Given the description of an element on the screen output the (x, y) to click on. 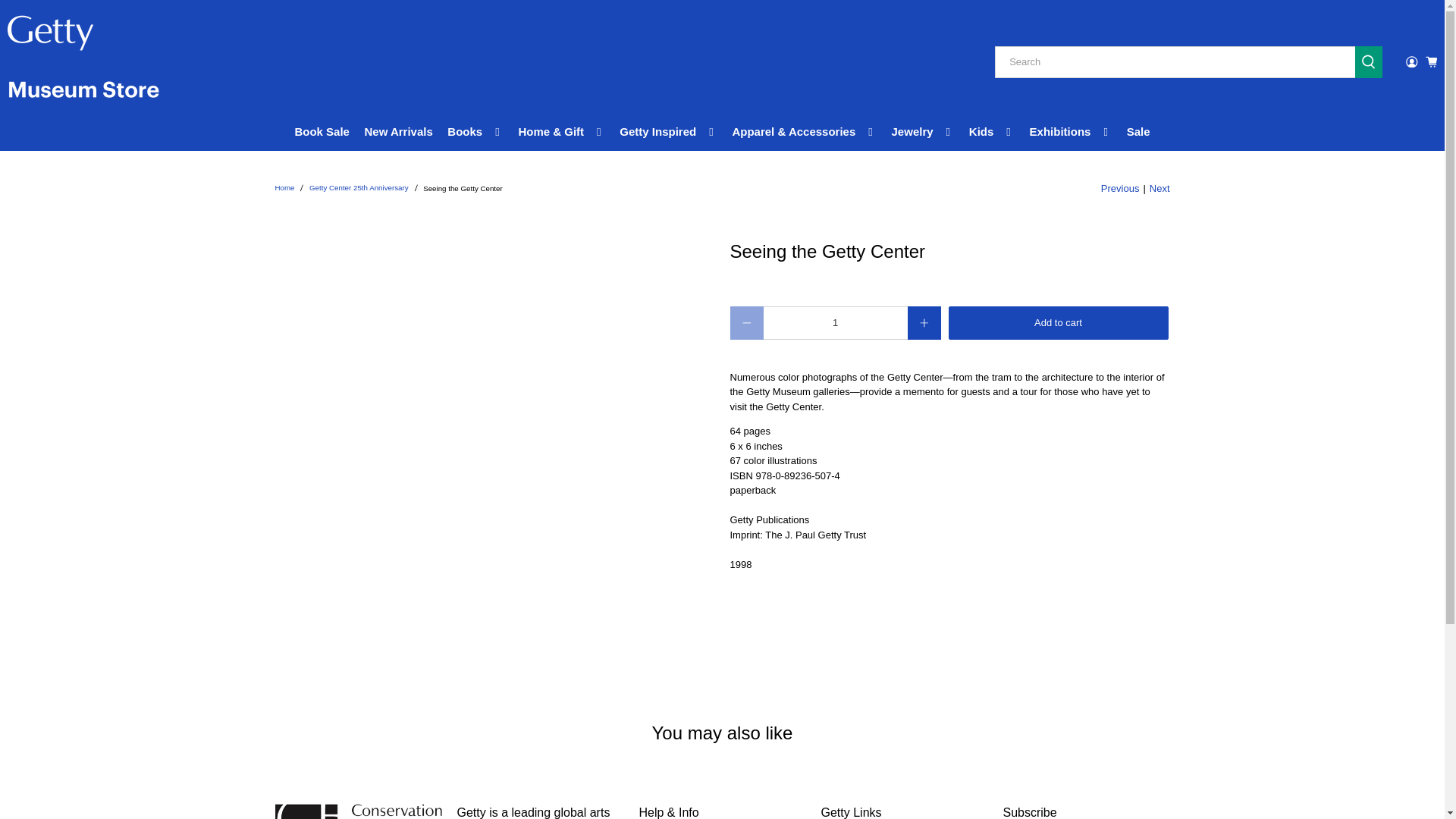
Getty Museum Store (284, 187)
Getty Inspired (668, 131)
1 (834, 322)
Books (476, 131)
Getty Museum Store (82, 61)
Getty Museum Store (358, 811)
Book Sale (321, 131)
Getty Center 25th Anniversary (358, 187)
New Arrivals (398, 131)
Next (1160, 187)
Previous (1120, 187)
